Given the description of an element on the screen output the (x, y) to click on. 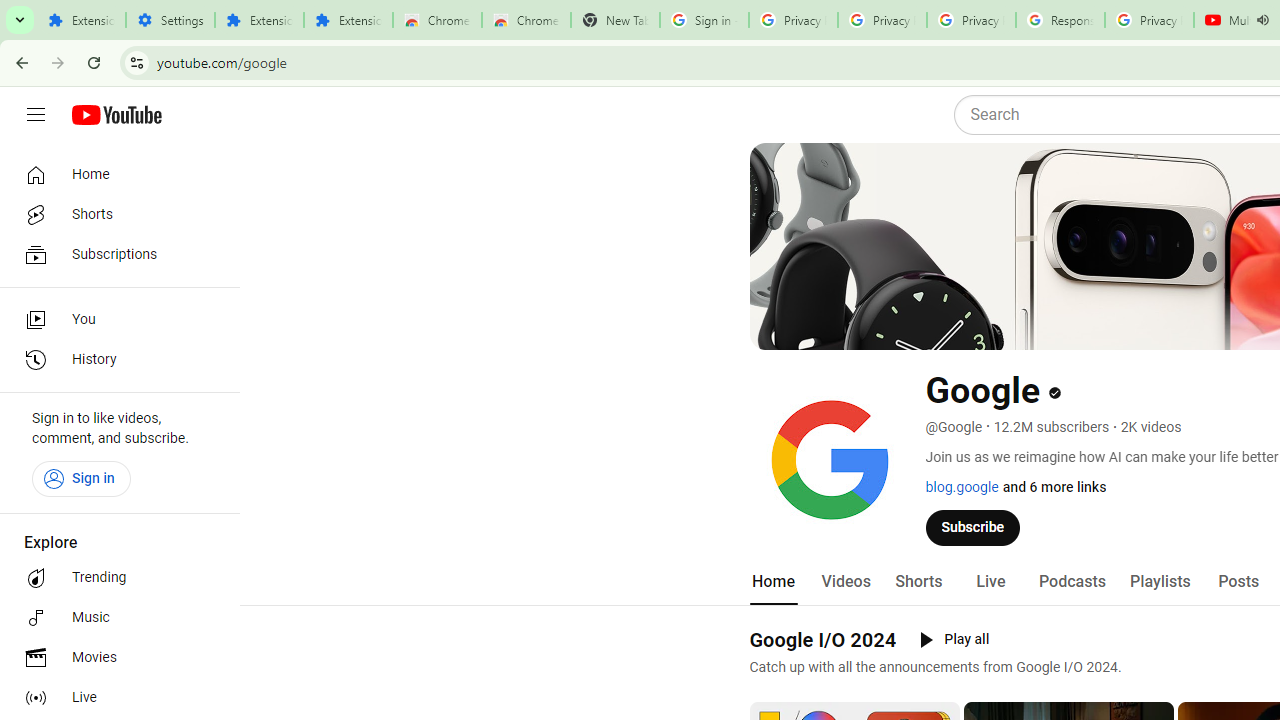
Mute tab (1262, 20)
Home (113, 174)
Chrome Web Store (437, 20)
Guide (35, 115)
Extensions (347, 20)
Videos (845, 581)
Play all (954, 640)
Extensions (259, 20)
Subscribe (973, 527)
Settings (170, 20)
Podcasts (1072, 581)
History (113, 359)
